Given the description of an element on the screen output the (x, y) to click on. 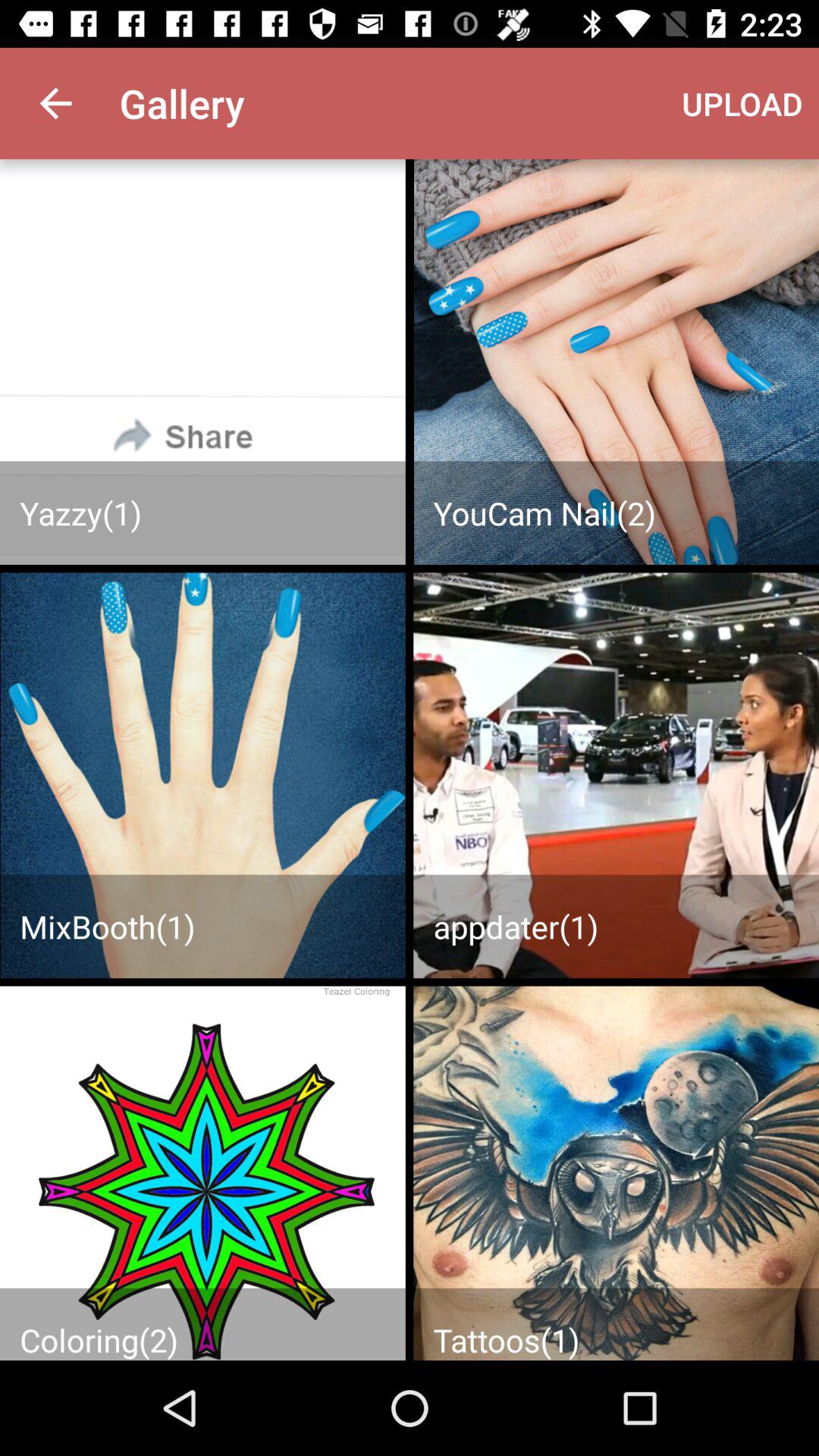
view album (202, 1173)
